Given the description of an element on the screen output the (x, y) to click on. 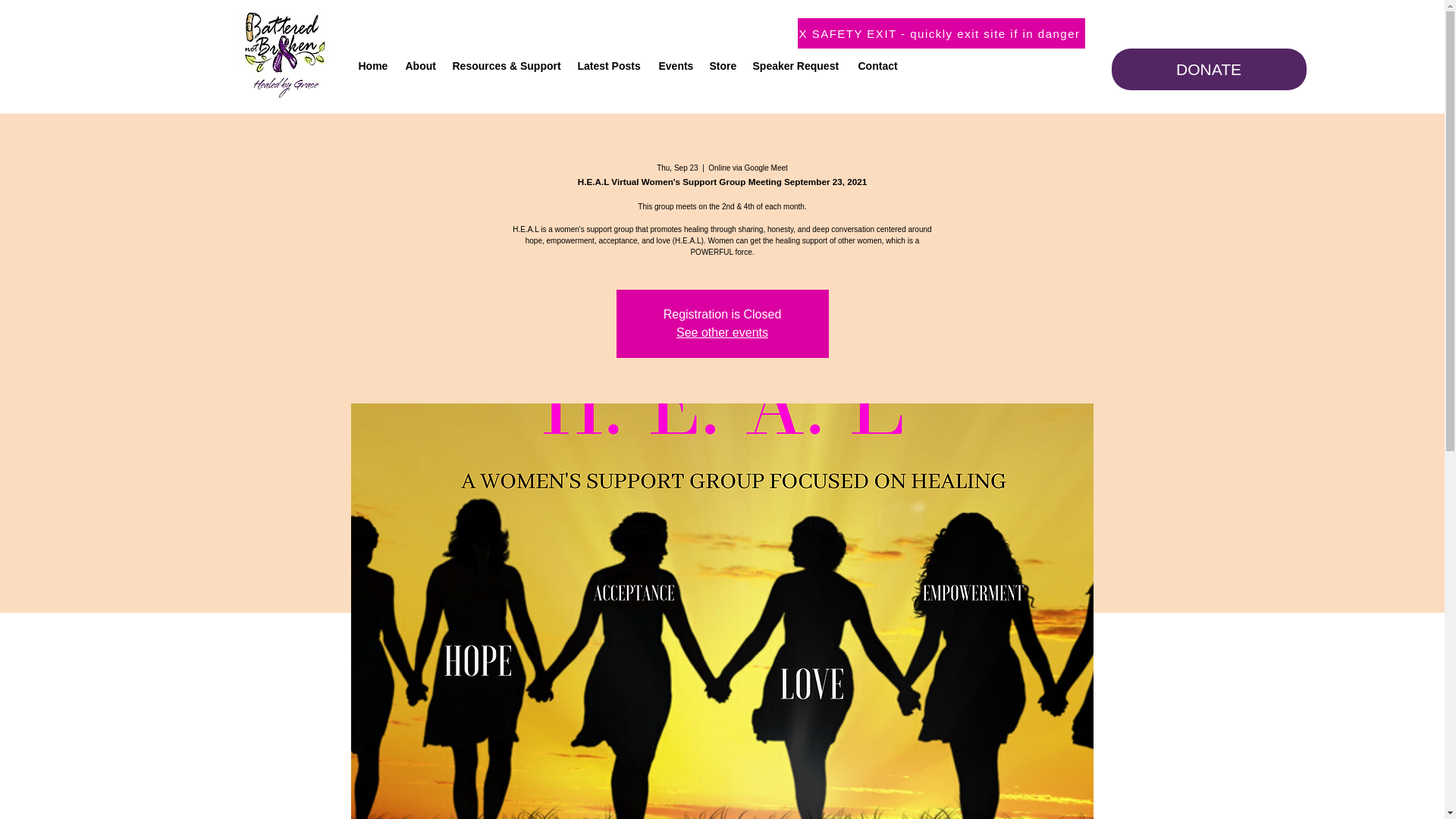
DONATE (1209, 69)
Home (373, 65)
Events (675, 65)
Latest Posts (610, 65)
See other events (722, 332)
About (420, 65)
Speaker Request (797, 65)
Store (723, 65)
X SAFETY EXIT - quickly exit site if in danger (940, 33)
Contact (880, 65)
